Given the description of an element on the screen output the (x, y) to click on. 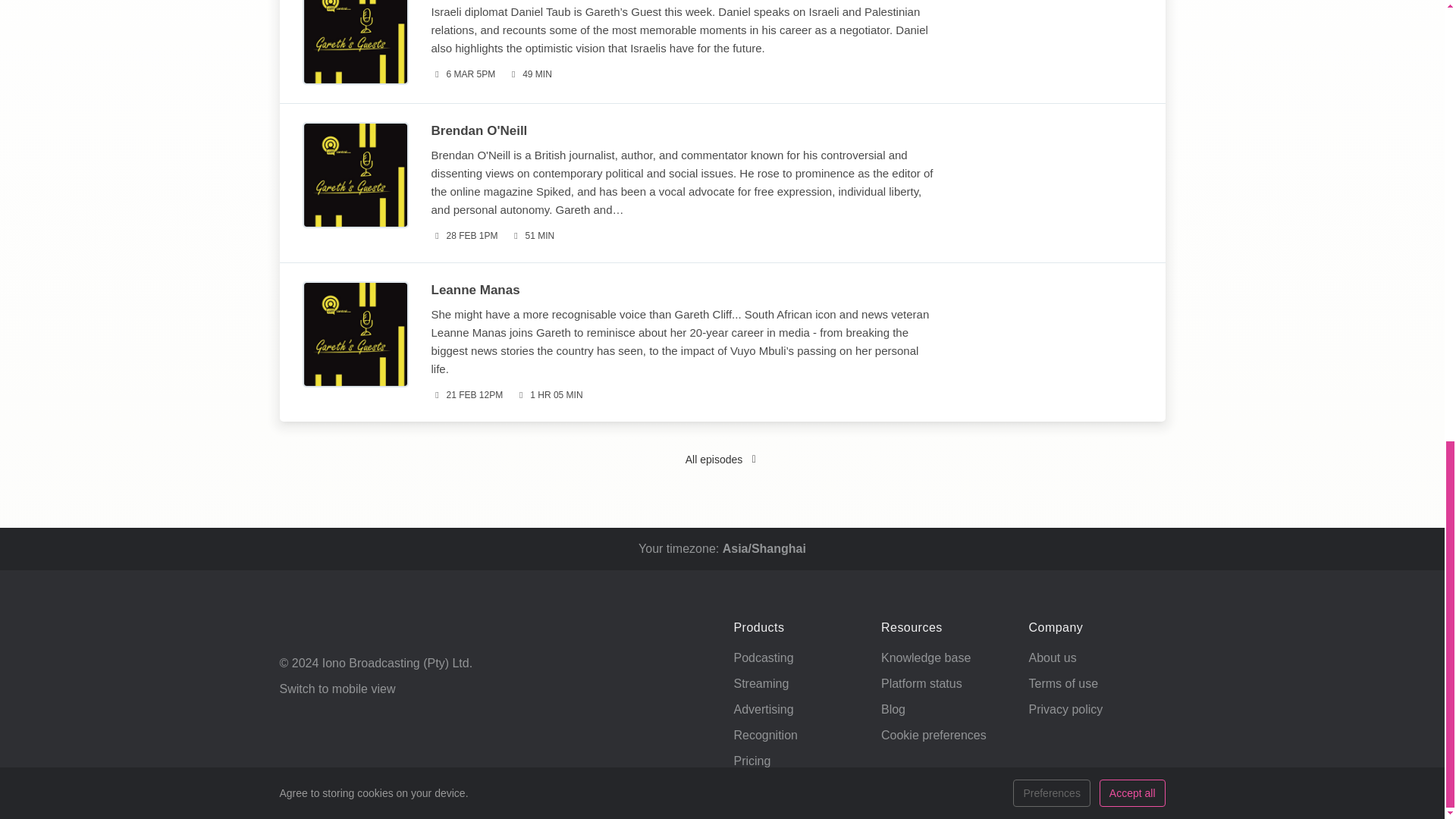
Published (463, 236)
Duration (528, 74)
Published (462, 74)
Duration (532, 236)
